Given the description of an element on the screen output the (x, y) to click on. 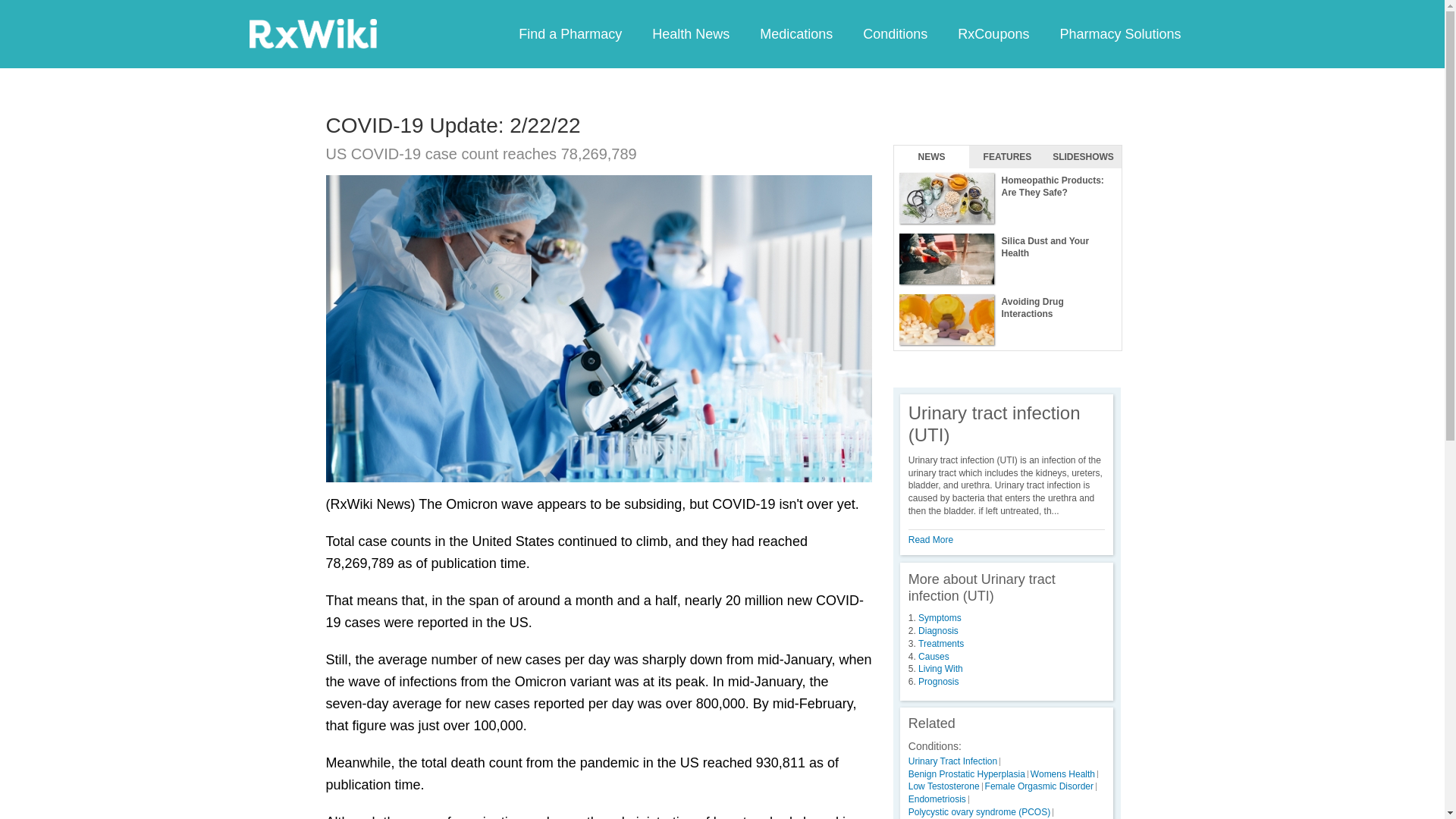
Conditions (894, 33)
Pharmacy Solutions (1119, 33)
RxWiki (312, 32)
Silica Dust and Your Health (1007, 259)
NEWS (931, 156)
SLIDESHOWS (1083, 156)
Medications (795, 33)
Homeopathic Products: Are They Safe? (1007, 198)
Health News (690, 33)
FEATURES (1007, 156)
